Given the description of an element on the screen output the (x, y) to click on. 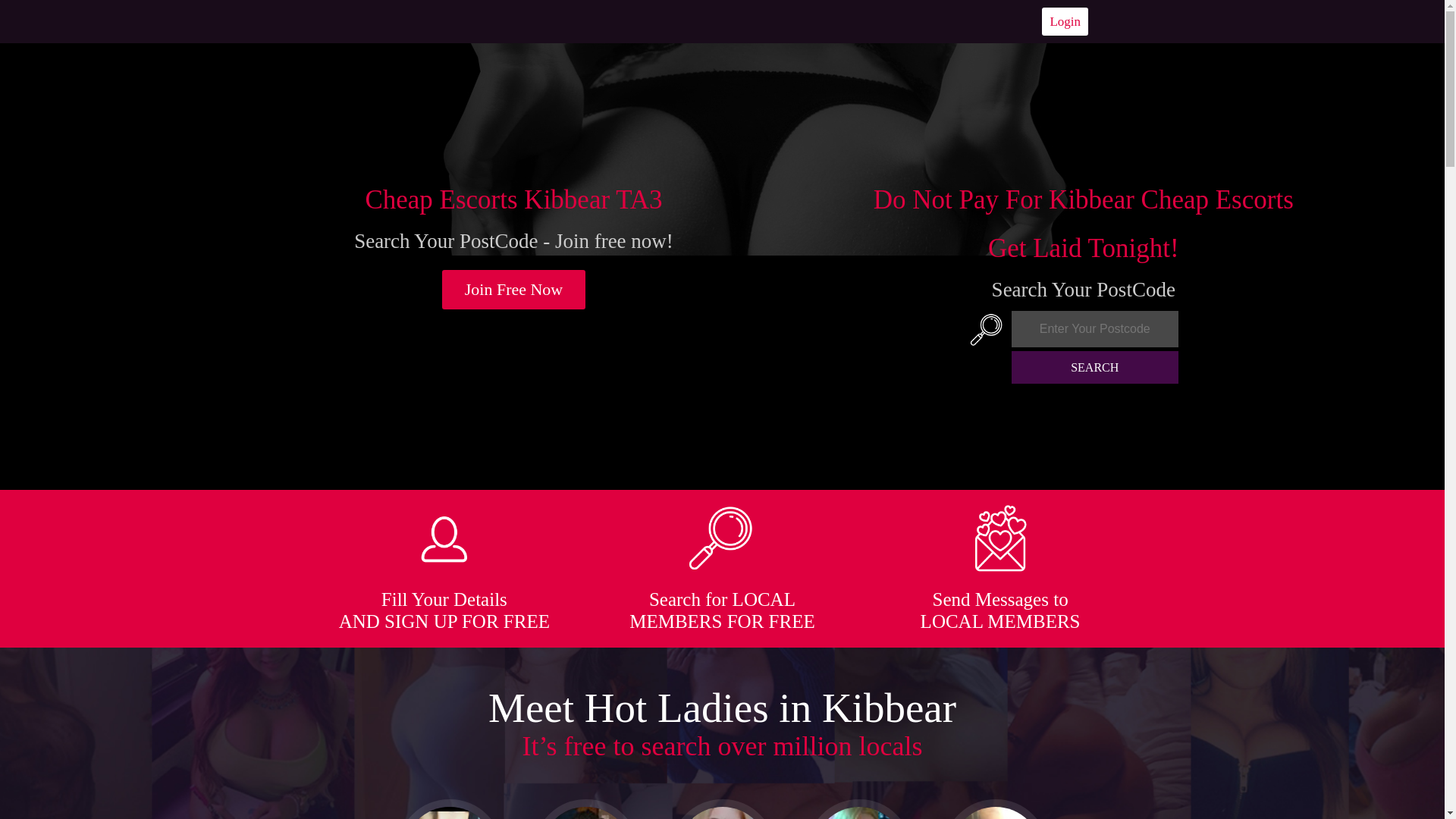
Join (514, 289)
Login (1064, 21)
Join Free Now (514, 289)
Login (1064, 21)
SEARCH (1094, 367)
